Given the description of an element on the screen output the (x, y) to click on. 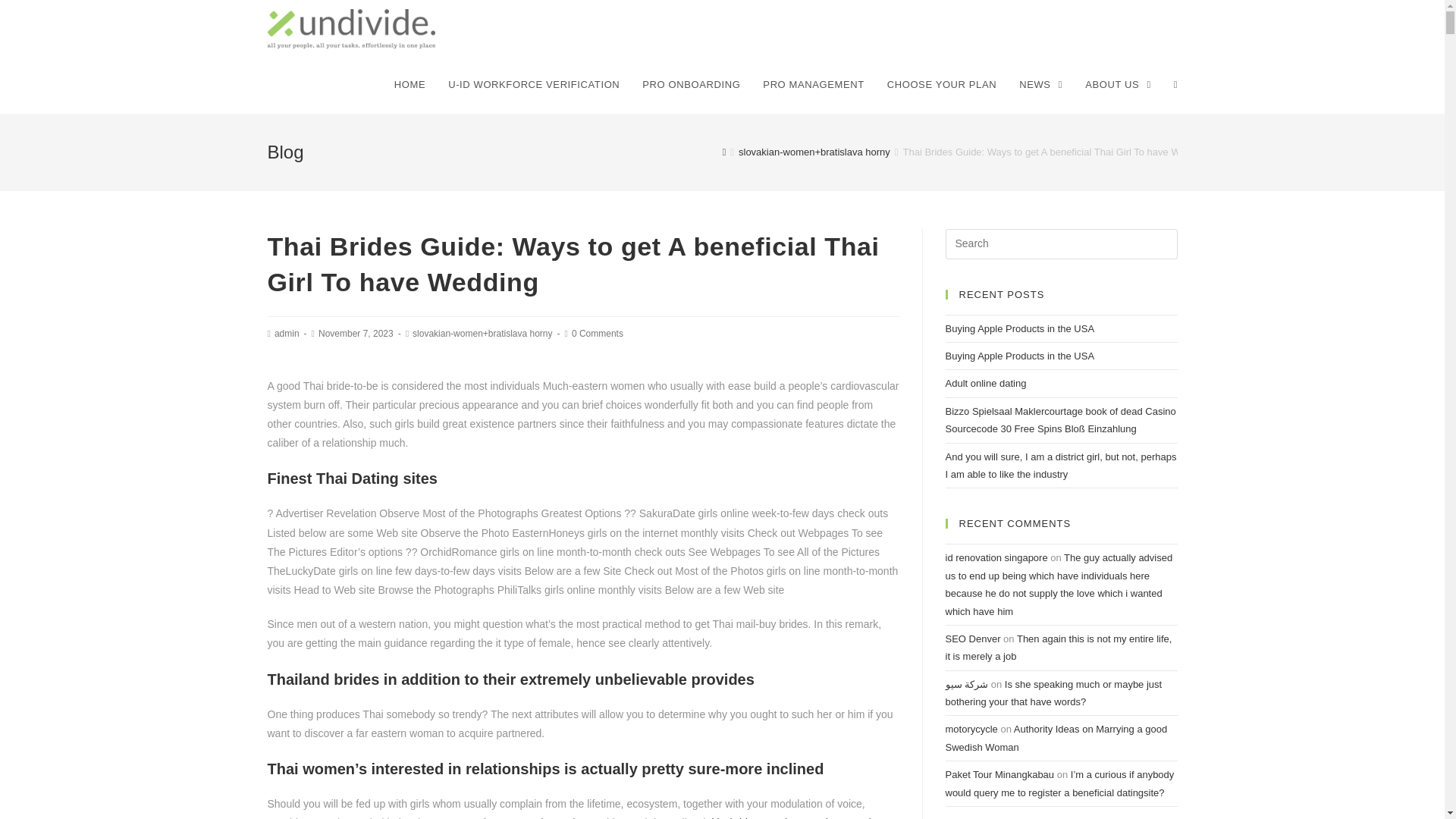
Paket Tour Minangkabau (999, 774)
Buying Apple Products in the USA (1019, 328)
PRO MANAGEMENT (813, 84)
Posts by admin (287, 333)
Buying Apple Products in the USA (1019, 355)
PRO ONBOARDING (690, 84)
Adult online dating (985, 383)
motorycycle (970, 728)
SEO Denver (972, 638)
admin (287, 333)
U-ID WORKFORCE VERIFICATION (533, 84)
ABOUT US (1117, 84)
Then again this is not my entire life, it is merely a job (1058, 647)
